Given the description of an element on the screen output the (x, y) to click on. 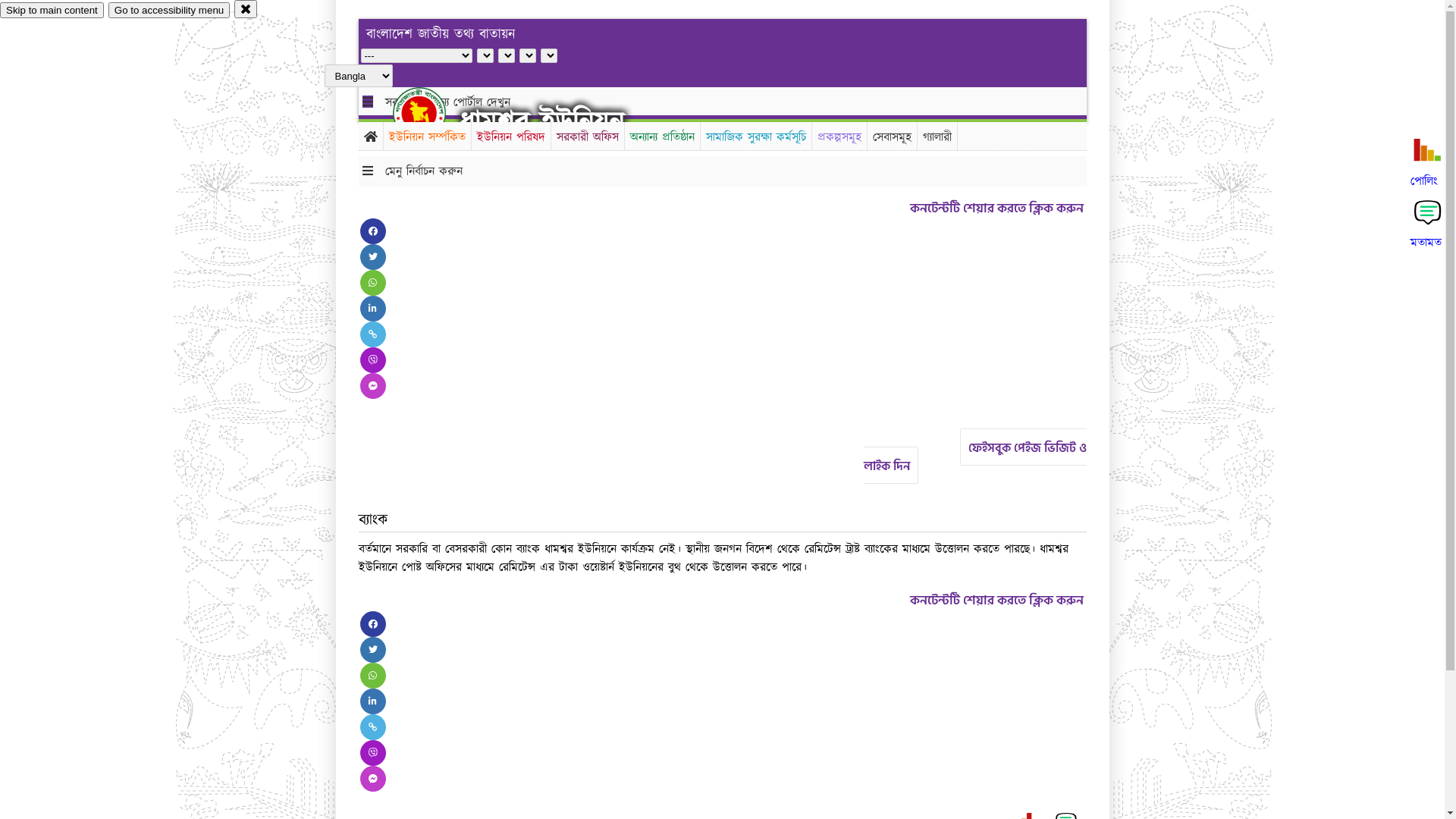
close Element type: hover (245, 9)
Skip to main content Element type: text (51, 10)
Go to accessibility menu Element type: text (168, 10)

                
             Element type: hover (431, 112)
